Given the description of an element on the screen output the (x, y) to click on. 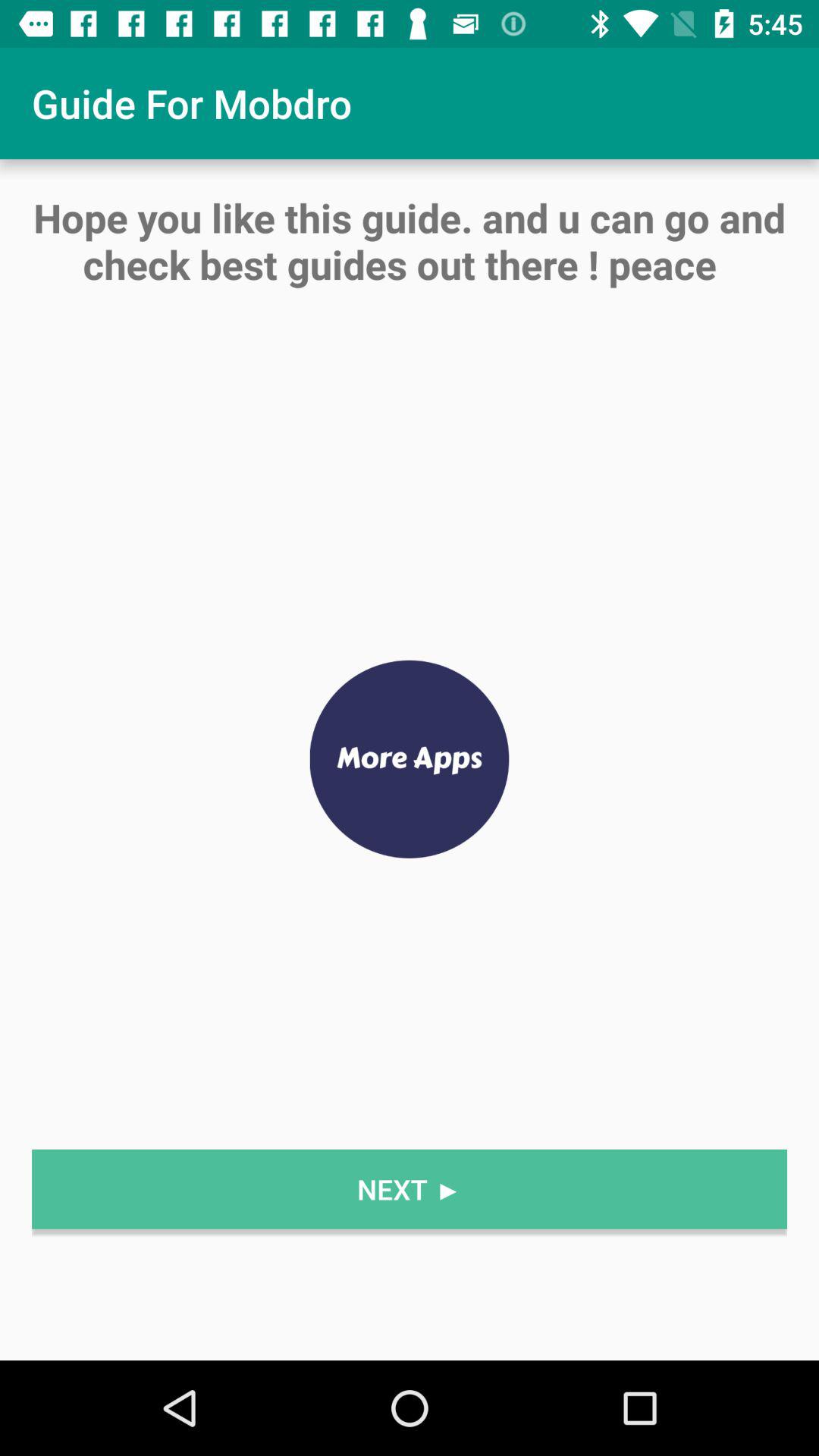
launch the icon at the center (409, 759)
